Given the description of an element on the screen output the (x, y) to click on. 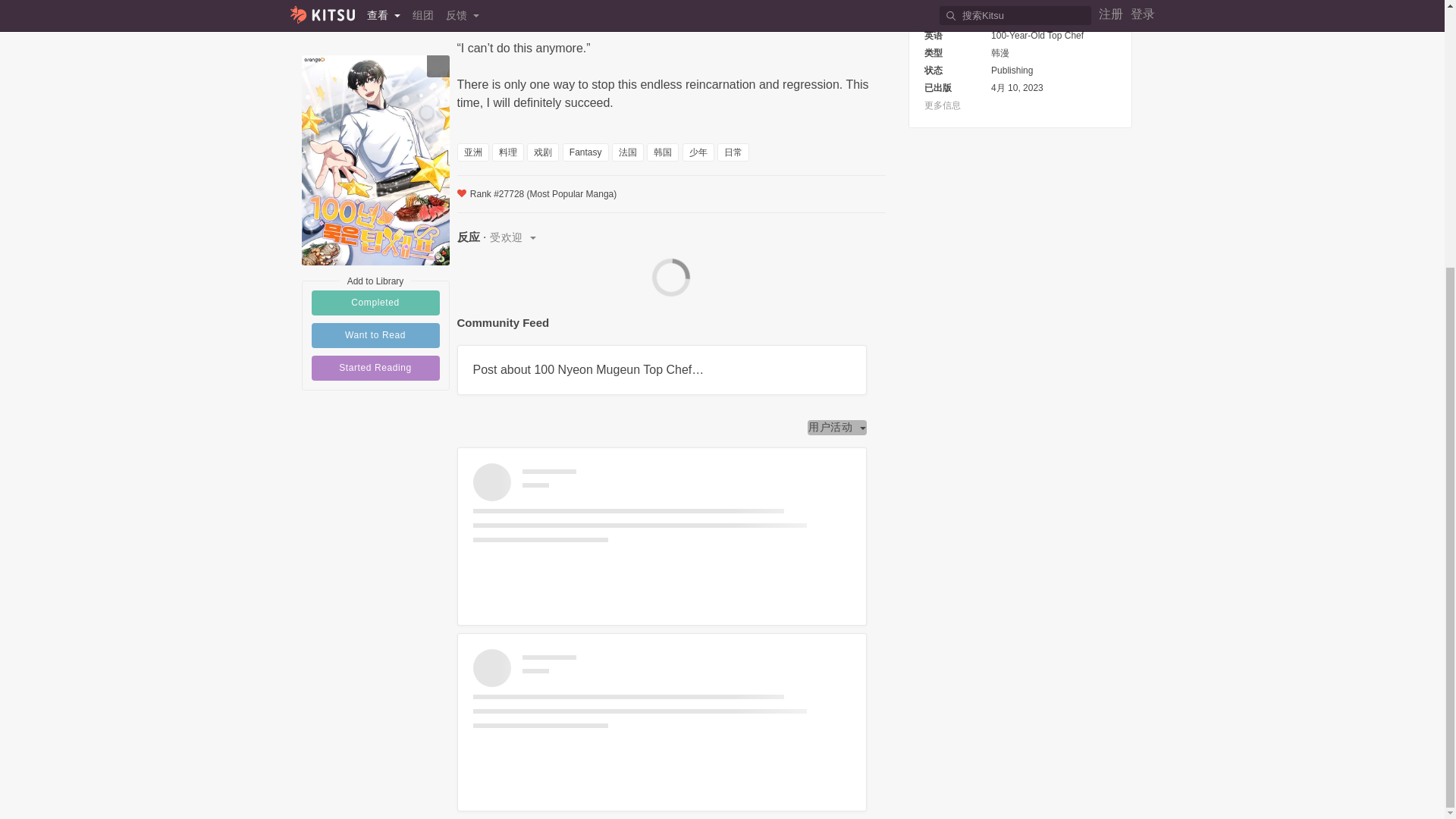
Want to Read (375, 129)
Fantasy (585, 152)
Completed (375, 97)
Started Reading (375, 162)
